Given the description of an element on the screen output the (x, y) to click on. 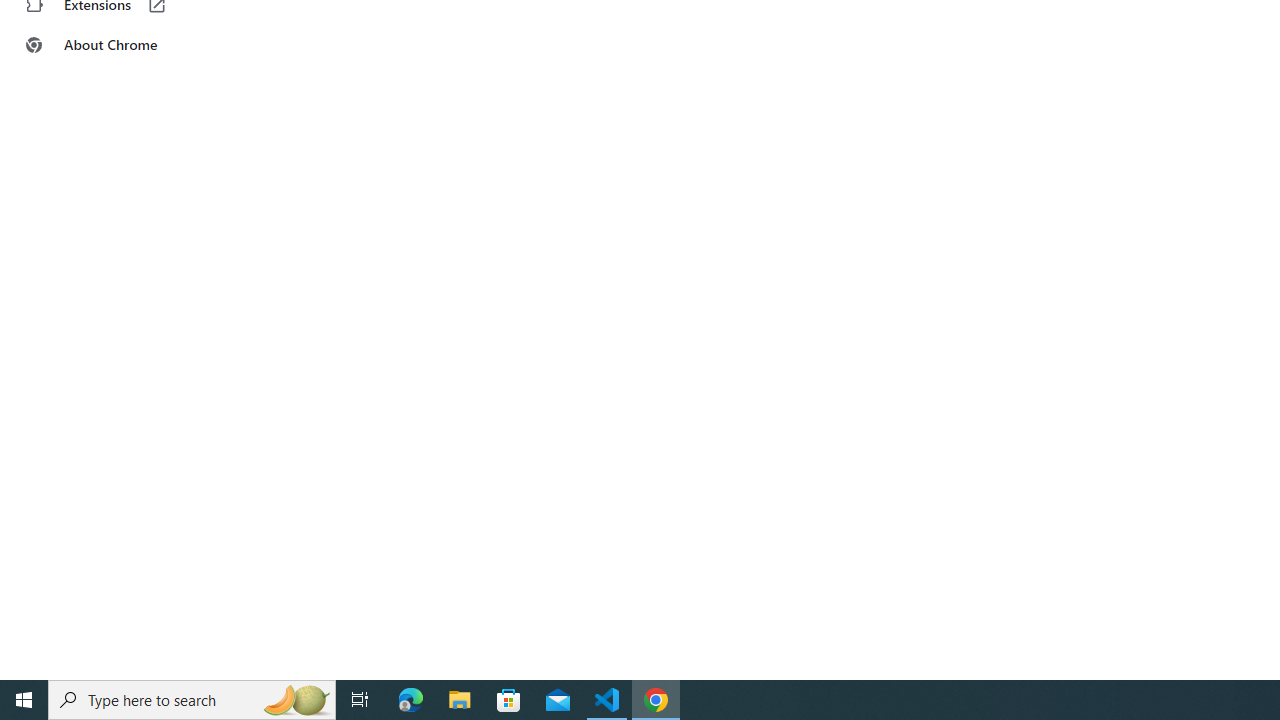
About Chrome (124, 44)
